Given the description of an element on the screen output the (x, y) to click on. 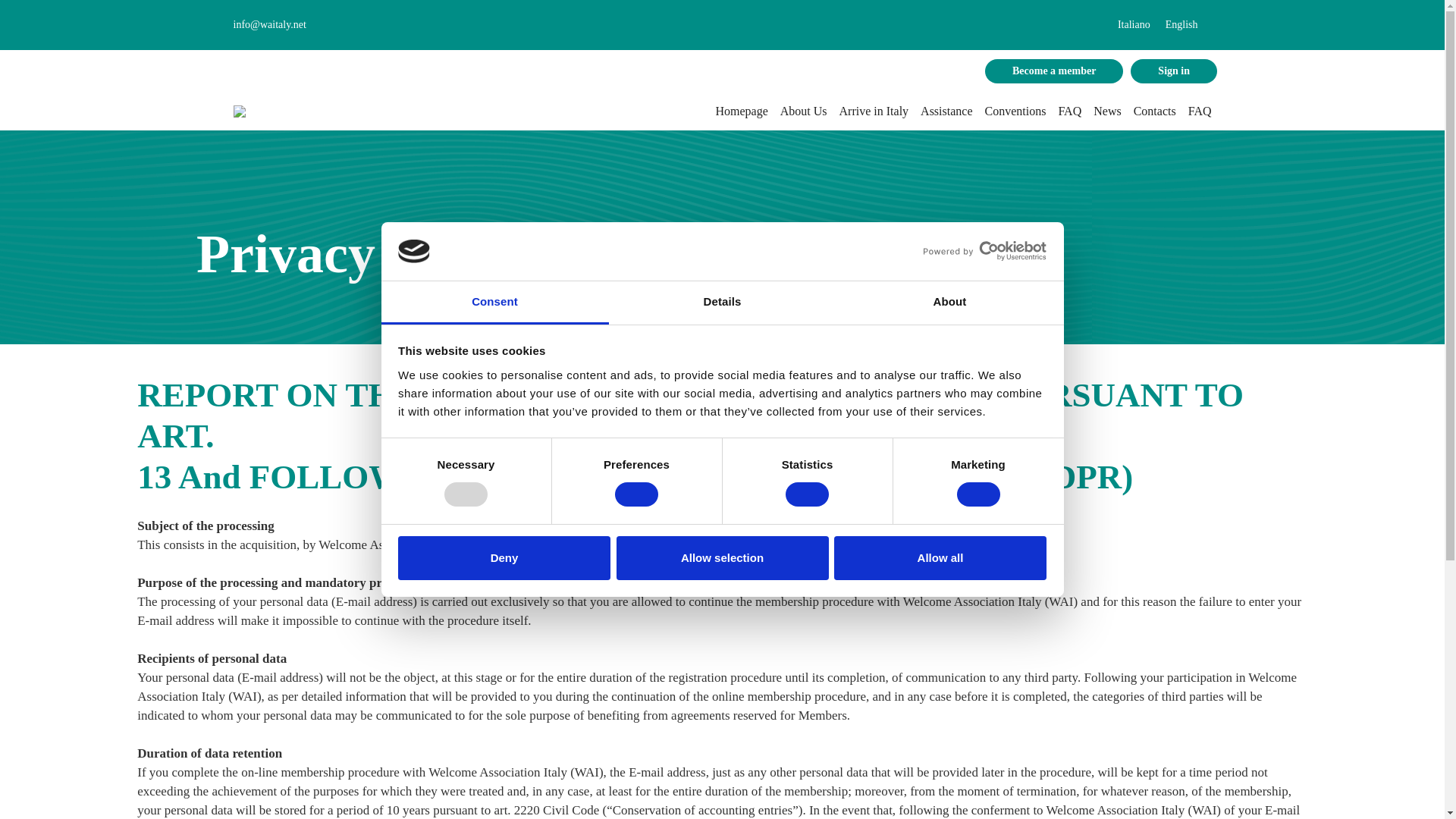
Details (721, 302)
Allow all (940, 557)
About (948, 302)
Consent (494, 302)
Deny (503, 557)
Allow selection (721, 557)
